Given the description of an element on the screen output the (x, y) to click on. 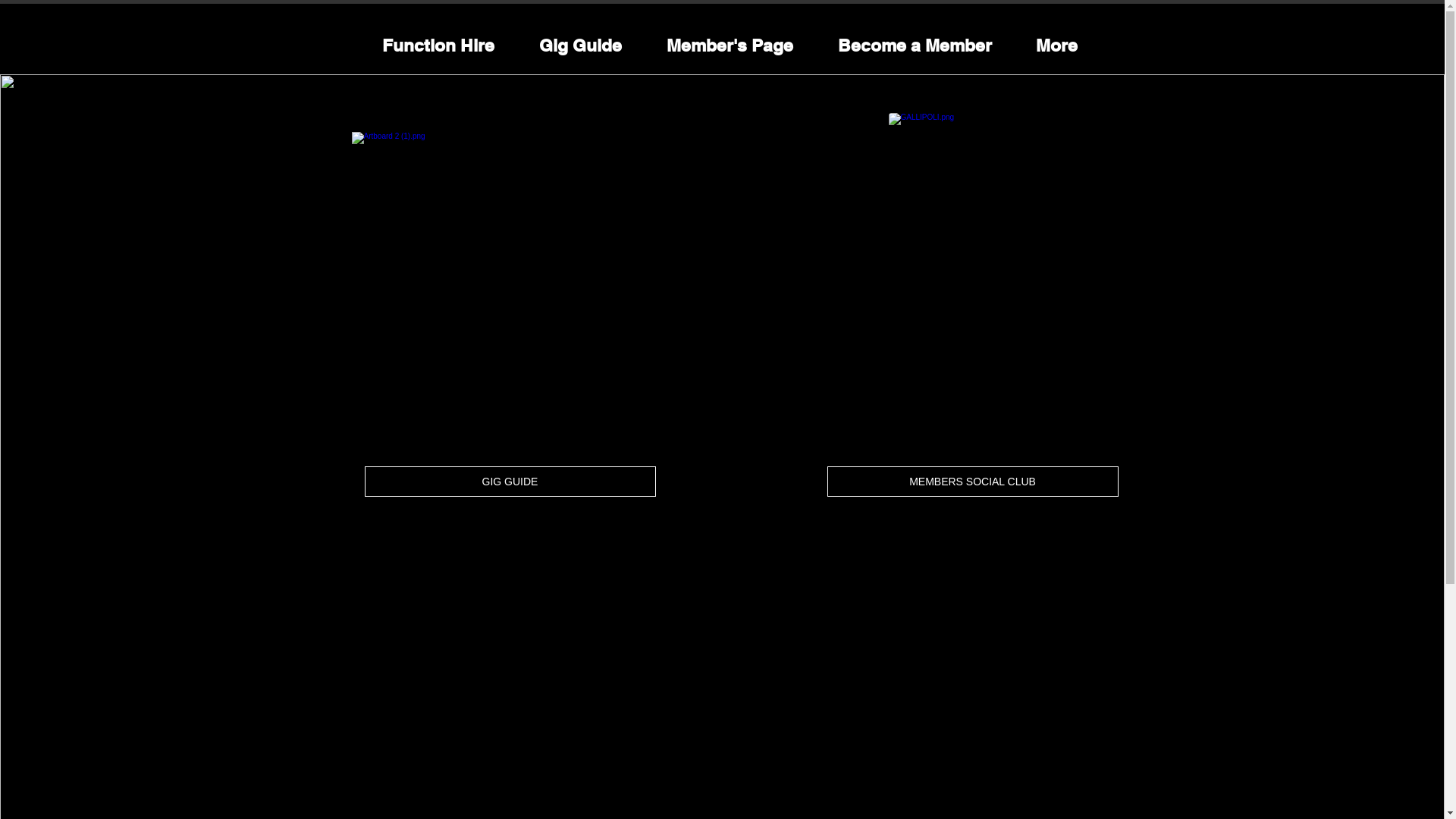
Function Hire Element type: text (437, 45)
Gig Guide Element type: text (580, 45)
GIG GUIDE Element type: text (509, 481)
Become a Member Element type: text (914, 45)
Member's Page Element type: text (729, 45)
MEMBERS SOCIAL CLUB Element type: text (971, 481)
